Given the description of an element on the screen output the (x, y) to click on. 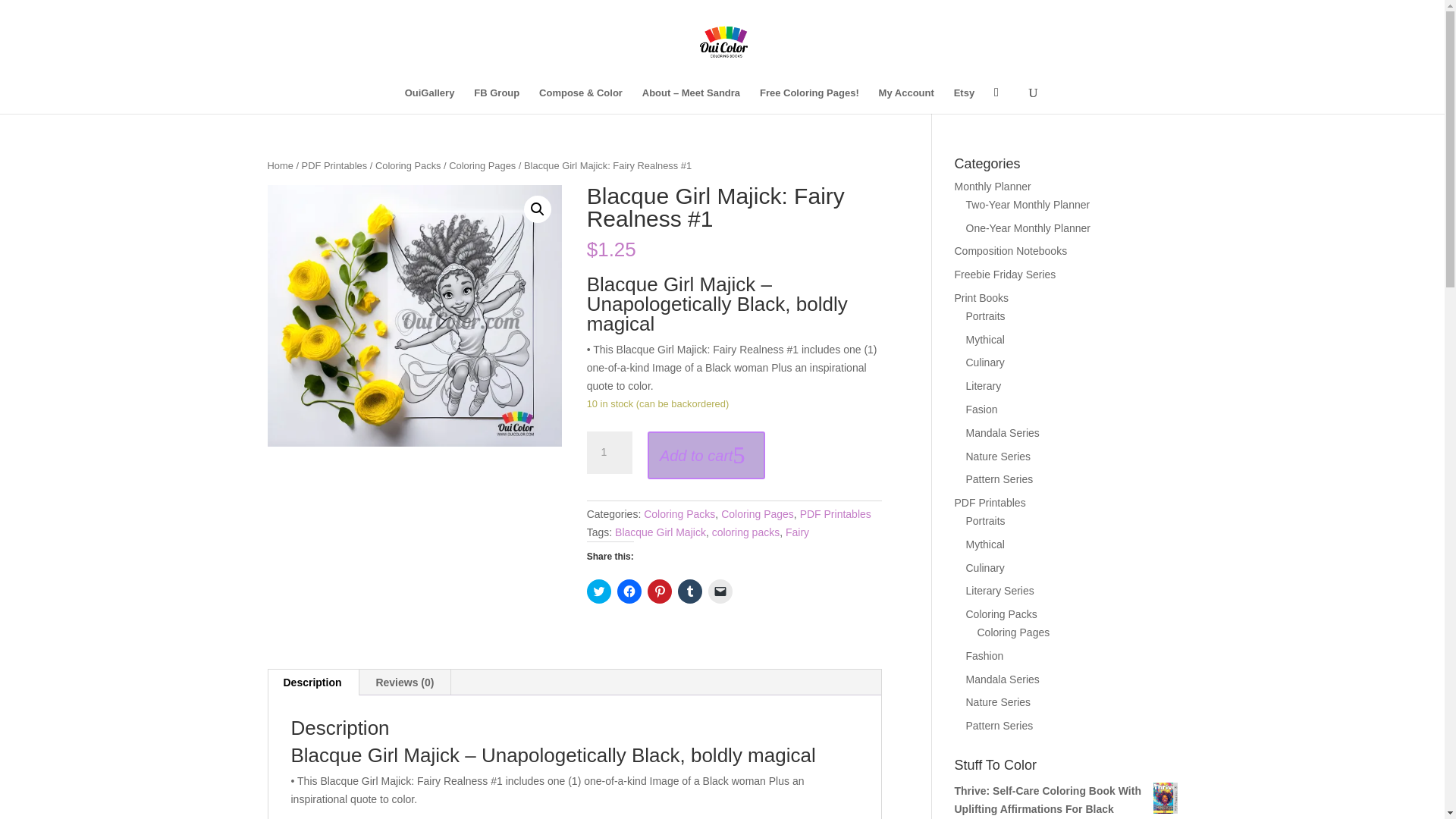
Free Coloring Pages! (809, 100)
Coloring Packs (678, 513)
Click to share on Facebook (629, 591)
Click to email a link to a friend (719, 591)
Add to cart (706, 455)
1 (608, 452)
My Account (906, 100)
Fairy (797, 532)
Coloring Pages (756, 513)
Home (279, 165)
Click to share on Twitter (598, 591)
Blacque Girl Majick (660, 532)
Coloring Pages (481, 165)
OuiGallery (429, 100)
coloring packs (745, 532)
